Given the description of an element on the screen output the (x, y) to click on. 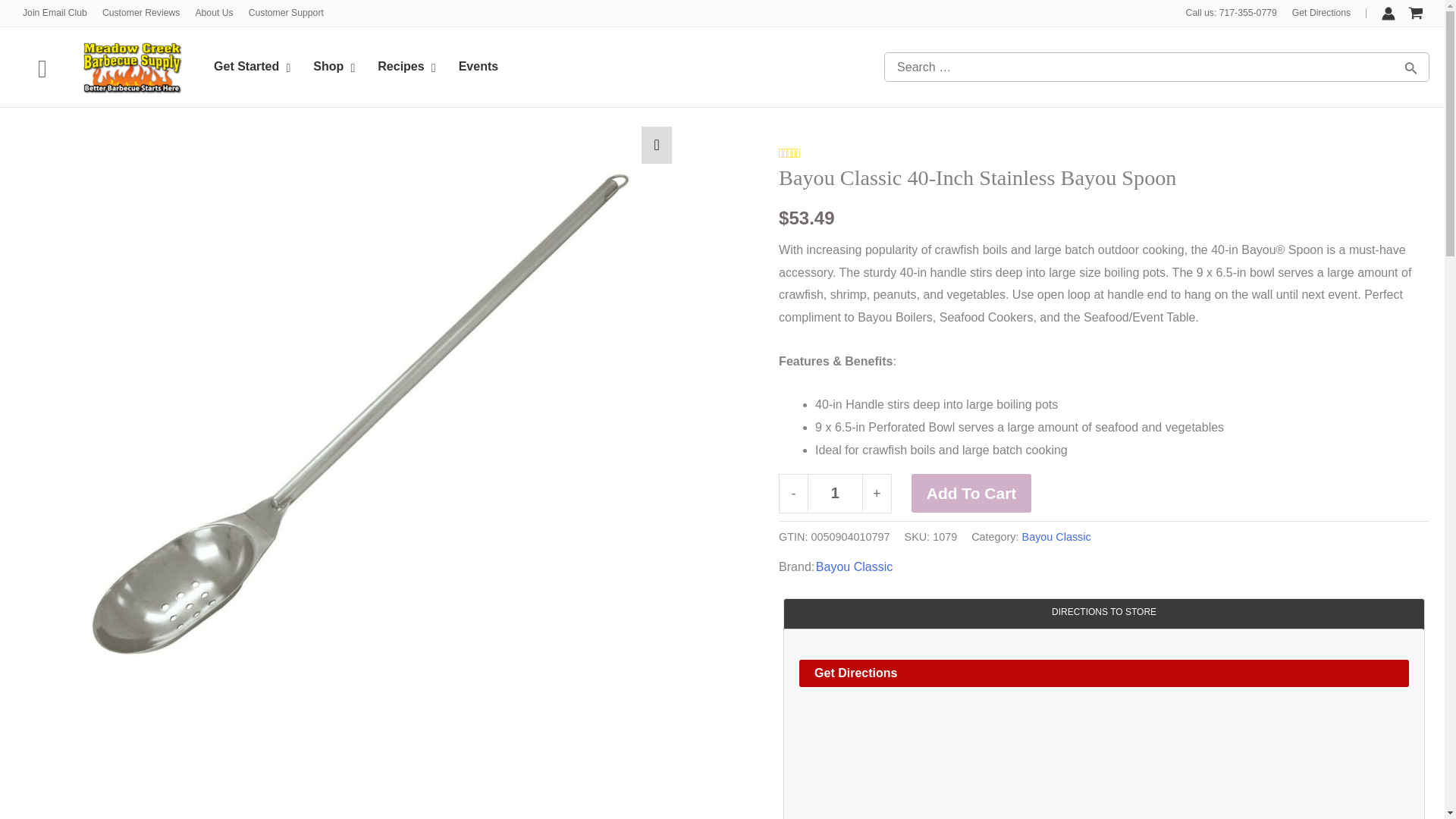
Shop (355, 66)
Customer Support (330, 66)
1 (286, 13)
Get Directions (835, 493)
View brand (1321, 13)
Customer Reviews (853, 567)
Join Email Club (140, 13)
About Us (54, 13)
Call us: 717-355-0779 (213, 13)
